Given the description of an element on the screen output the (x, y) to click on. 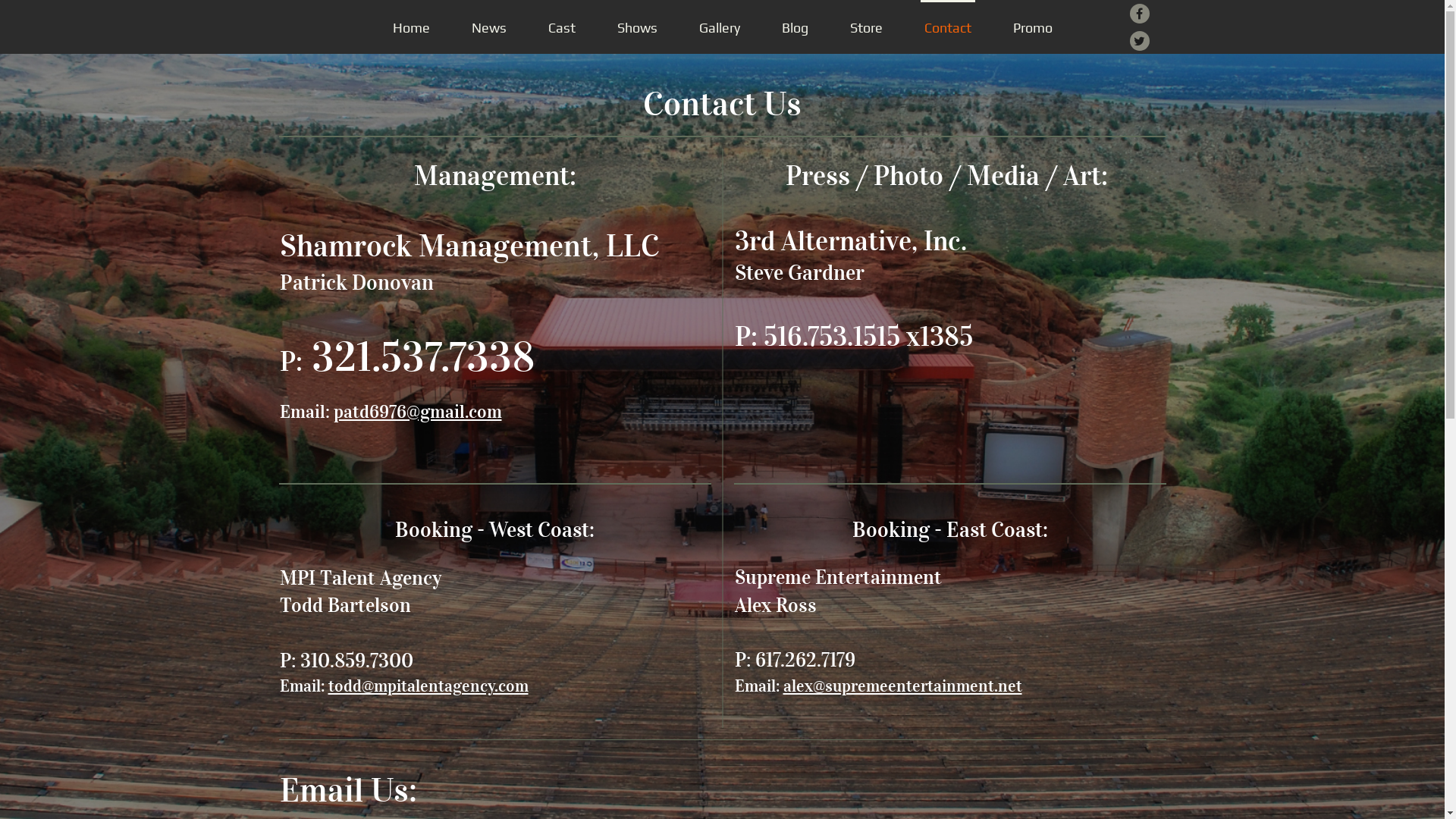
todd@mpitalentagency.com Element type: text (427, 685)
Blog Element type: text (795, 26)
Shows Element type: text (636, 26)
Cast Element type: text (561, 26)
alex@supremeentertainment.net Element type: text (901, 685)
patd6976@gmail.com Element type: text (417, 411)
Home Element type: text (410, 26)
Contact Element type: text (947, 26)
News Element type: text (488, 26)
Gallery Element type: text (718, 26)
Store Element type: text (866, 26)
Promo Element type: text (1031, 26)
